Given the description of an element on the screen output the (x, y) to click on. 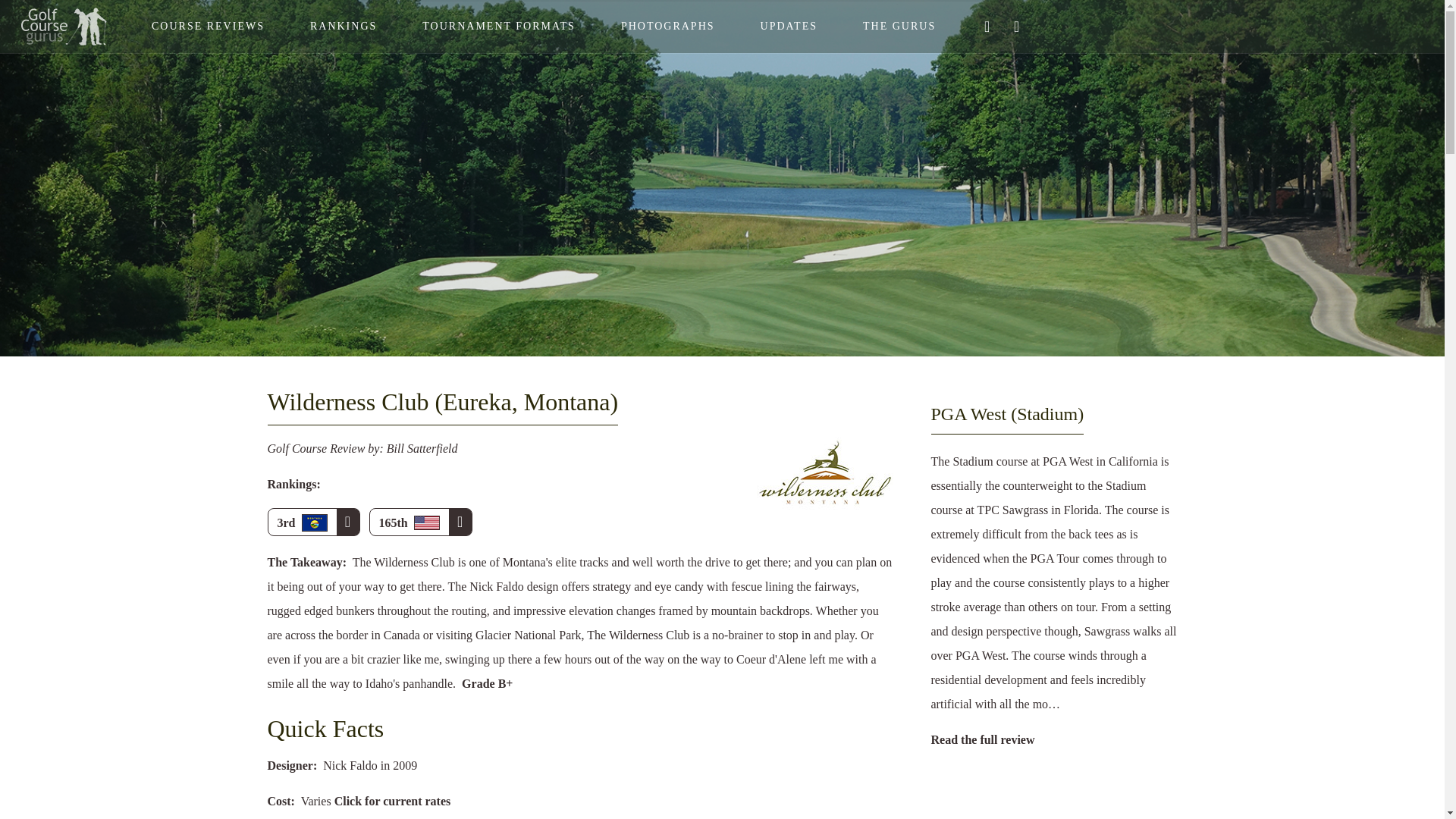
Read the full review (983, 739)
TOURNAMENT FORMATS (498, 26)
Click for current rates (392, 800)
PHOTOGRAPHS (668, 26)
UPDATES (789, 26)
3rd     (312, 521)
3rd in Montana (312, 521)
165th     (419, 521)
THE GURUS (899, 26)
RANKINGS (342, 26)
